Given the description of an element on the screen output the (x, y) to click on. 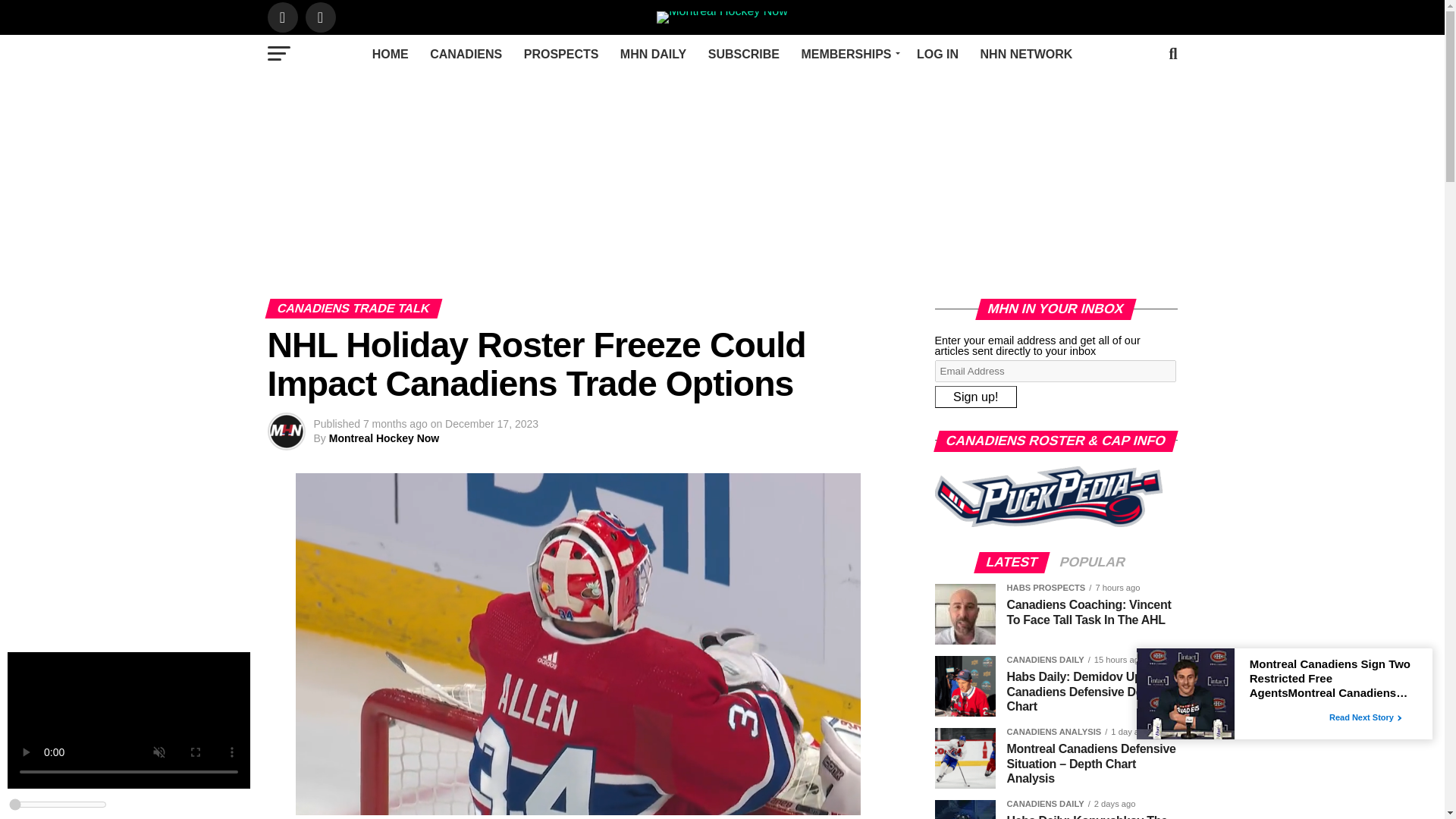
Posts by Montreal Hockey Now (384, 438)
MEMBERSHIPS (848, 54)
MHN DAILY (653, 54)
SUBSCRIBE (743, 54)
HOME (389, 54)
CANADIENS (465, 54)
PROSPECTS (561, 54)
